Given the description of an element on the screen output the (x, y) to click on. 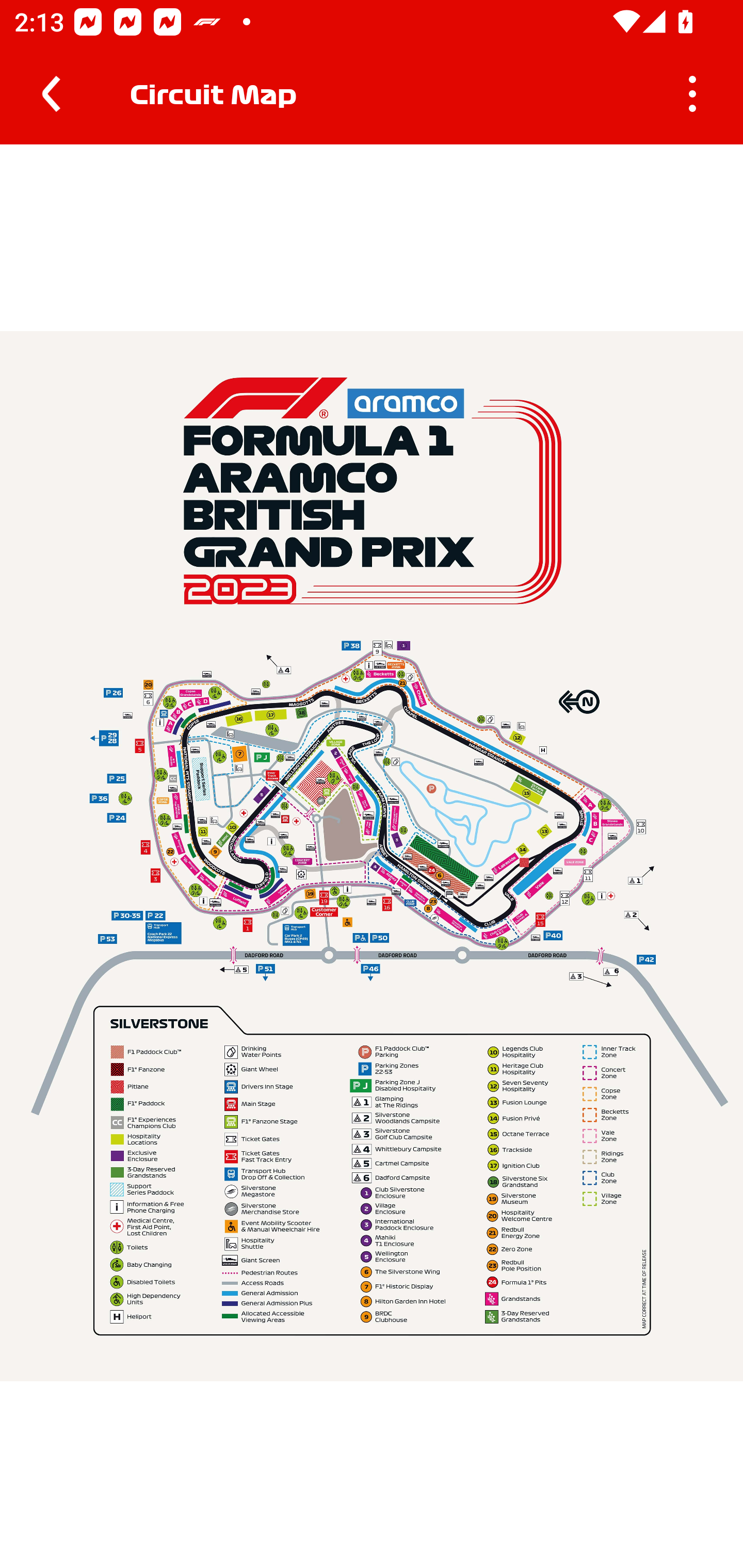
Navigate up (50, 93)
